Given the description of an element on the screen output the (x, y) to click on. 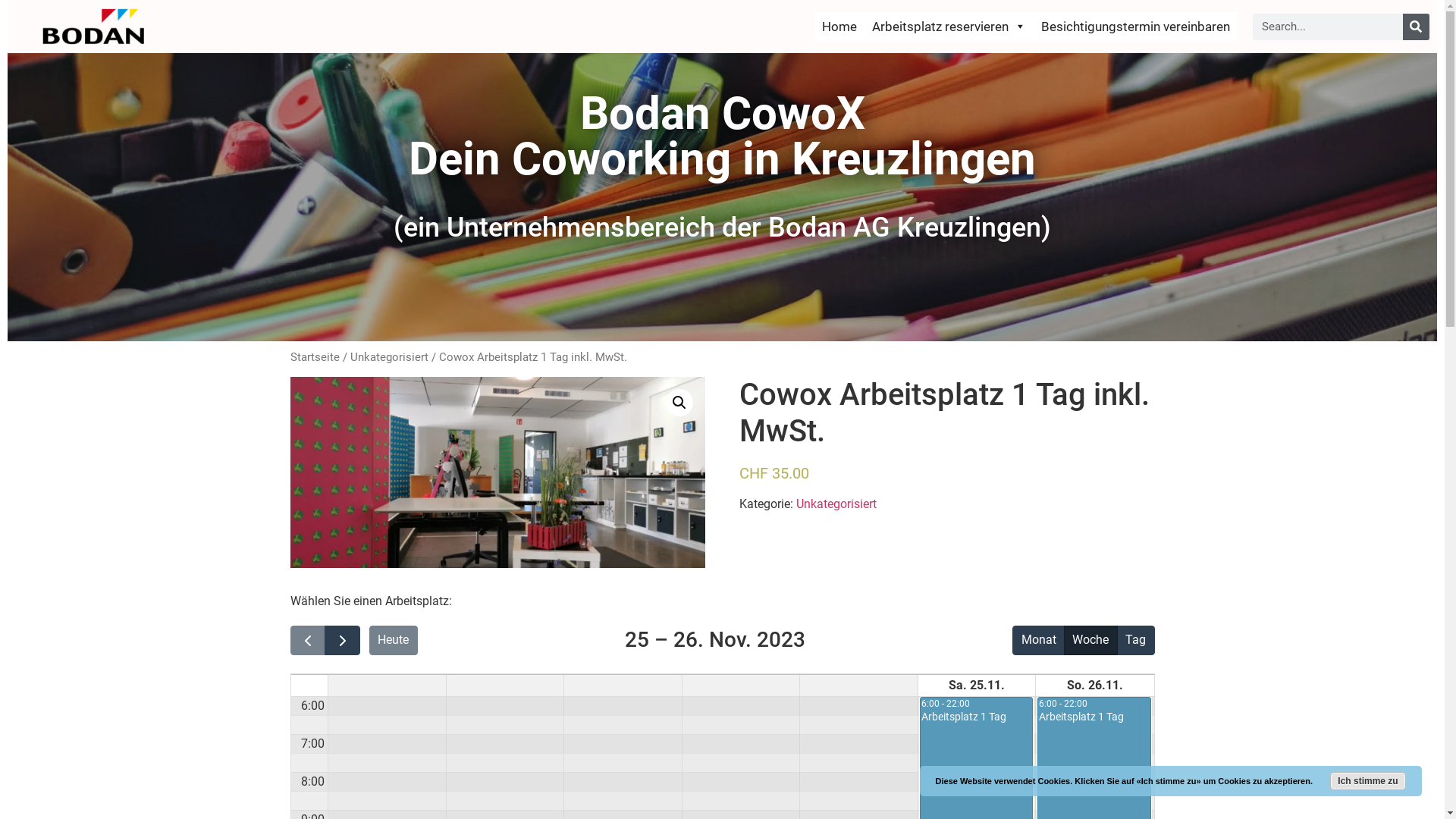
Startseite Element type: text (313, 357)
So. 26.11. Element type: text (1094, 685)
Unkategorisiert Element type: text (836, 503)
Tag Element type: text (1135, 640)
Vorherige Woche Element type: hover (307, 639)
Arbeitsplatz reservieren Element type: text (948, 26)
Besichtigungstermin vereinbaren Element type: text (1135, 26)
Sa. 25.11. Element type: text (976, 685)
Ich stimme zu Element type: text (1367, 780)
Woche Element type: text (1090, 640)
Monat Element type: text (1038, 640)
(ein Unternehmensbereich der Bodan AG Kreuzlingen) Element type: text (722, 227)
Heute Element type: text (393, 640)
Home Element type: text (839, 26)
Coworking 1 Element type: hover (496, 471)
Unkategorisiert Element type: text (389, 357)
